Given the description of an element on the screen output the (x, y) to click on. 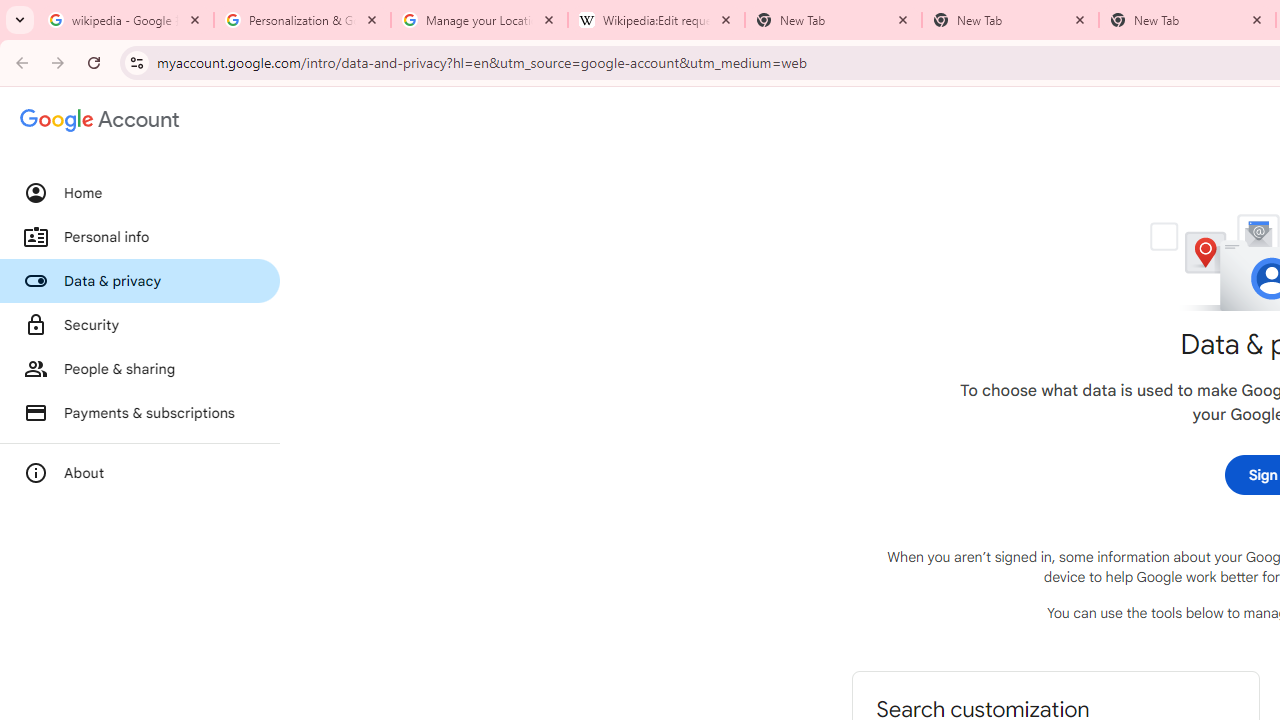
More information about the Google Account (140, 472)
Manage your Location History - Google Search Help (479, 20)
Personal info (140, 237)
New Tab (1010, 20)
Google Account settings (100, 120)
Data & privacy (140, 281)
Home (140, 193)
Security (140, 325)
